Given the description of an element on the screen output the (x, y) to click on. 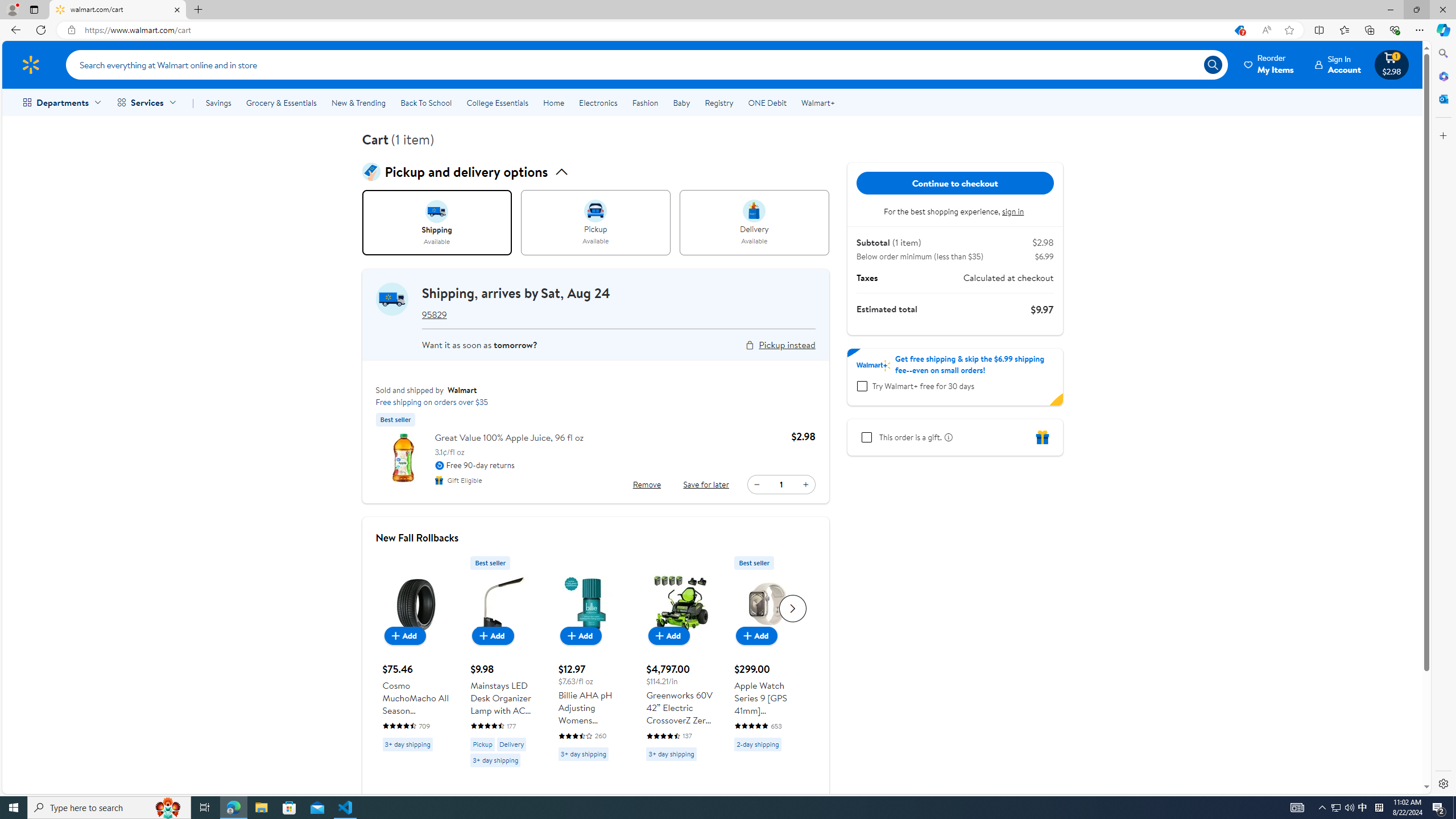
ONE Debit (767, 102)
sign in (1013, 211)
Sign In Account (1338, 64)
Baby (681, 102)
Electronics (598, 102)
College Essentials (496, 102)
This order is a gift. (866, 437)
Grocery & Essentials (280, 102)
College Essentials (496, 102)
Fashion (644, 102)
